Given the description of an element on the screen output the (x, y) to click on. 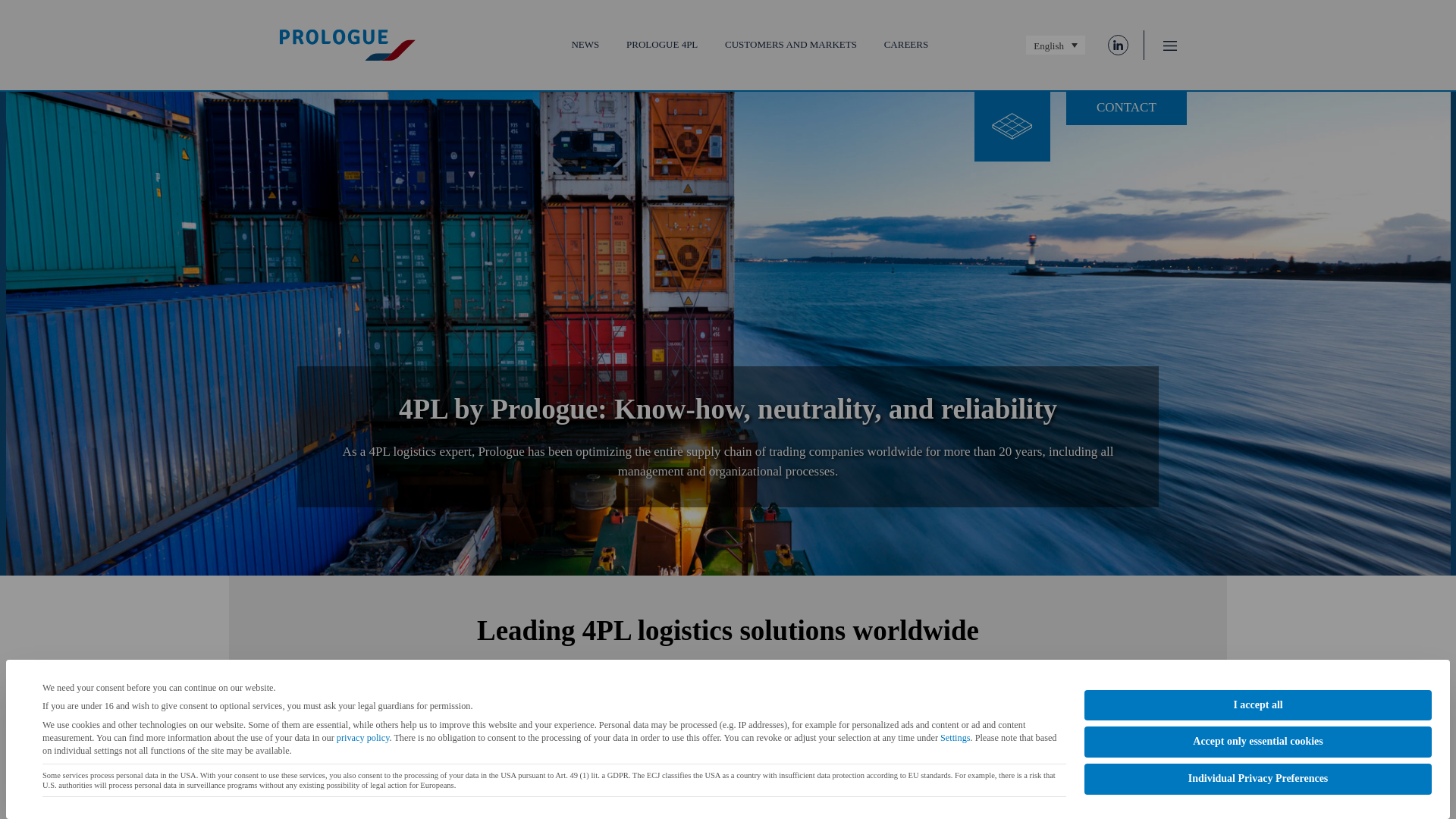
About Prologue 4PL (727, 808)
PROLOGUE 4PL (661, 43)
English (1055, 45)
CUSTOMERS AND MARKETS (791, 43)
CAREERS (905, 43)
NEWS (584, 43)
